Given the description of an element on the screen output the (x, y) to click on. 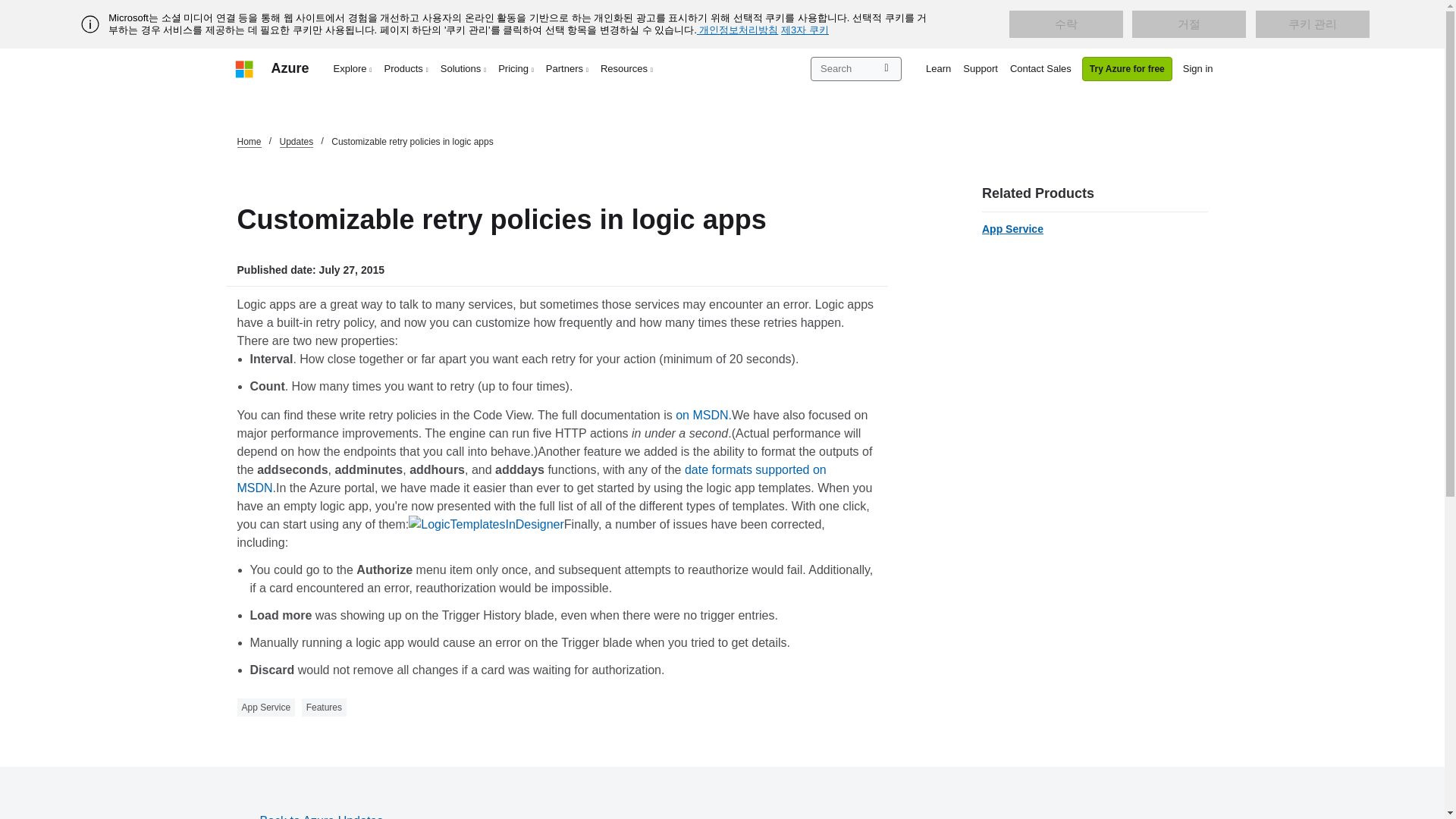
Azure (289, 68)
Explore (352, 68)
Products (405, 68)
Skip to main content (7, 7)
